Given the description of an element on the screen output the (x, y) to click on. 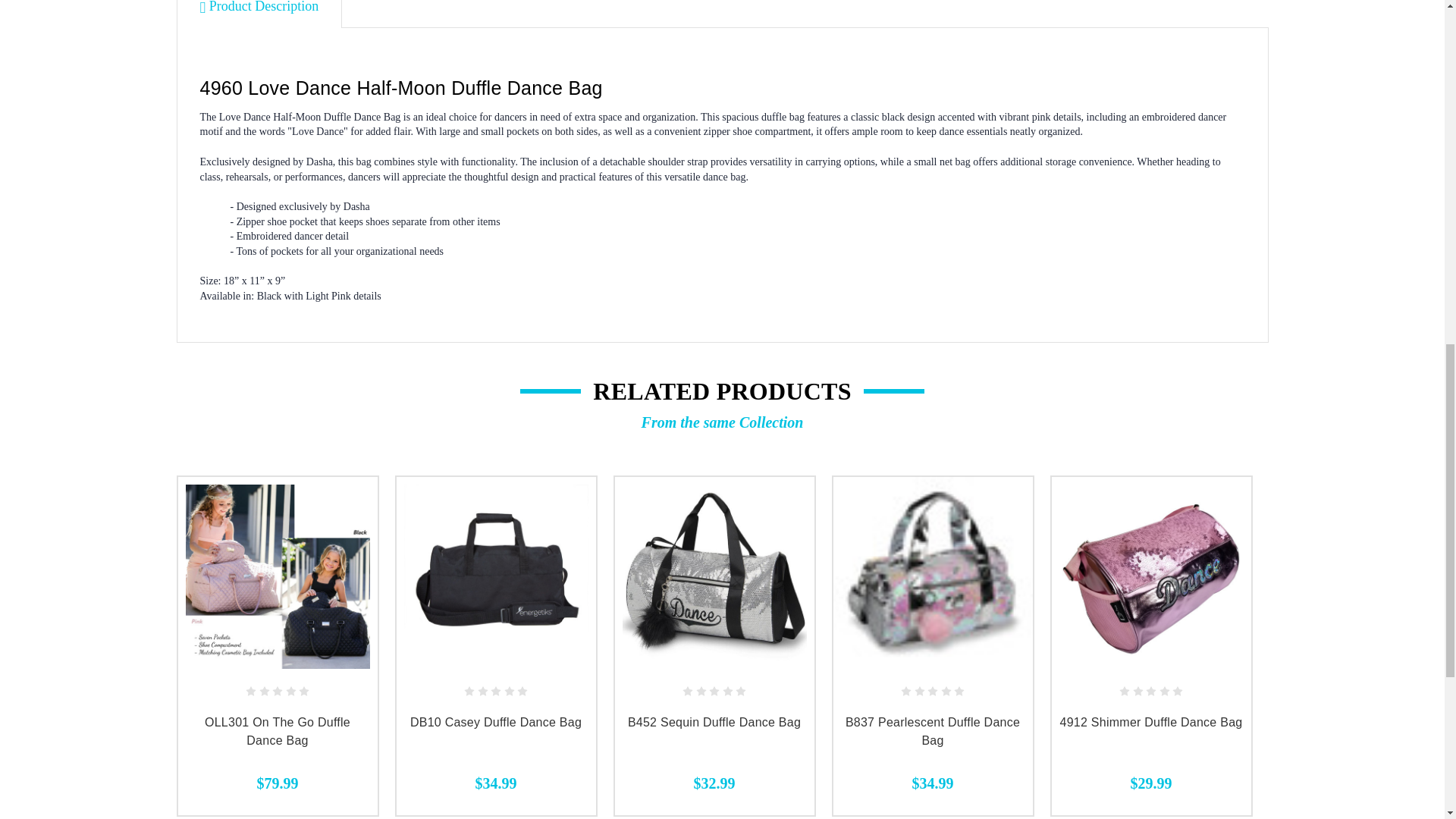
Oh La La Dancewear OLL301 On The Go Duffle Dance Bag (276, 576)
